Given the description of an element on the screen output the (x, y) to click on. 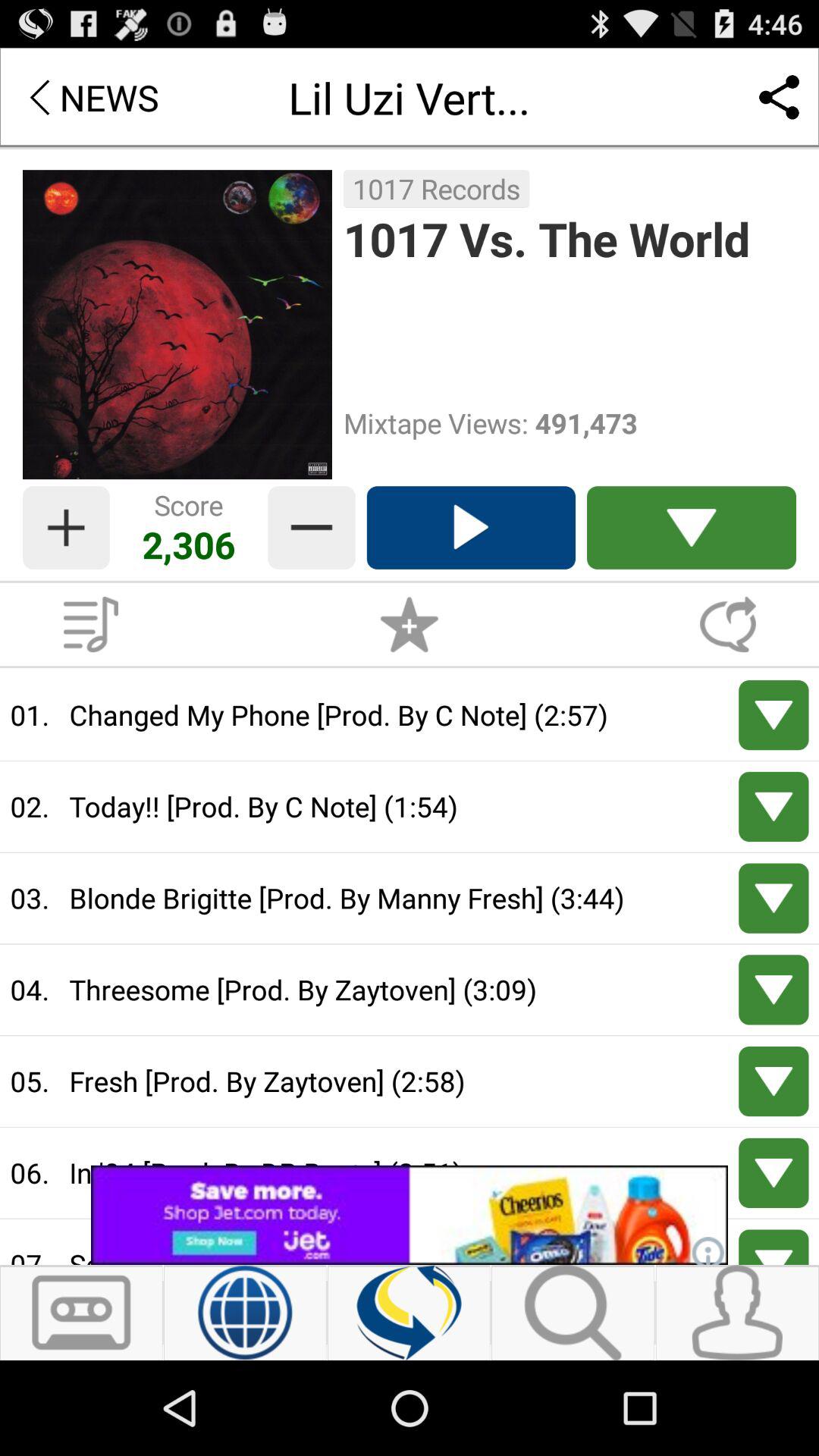
down (773, 715)
